Given the description of an element on the screen output the (x, y) to click on. 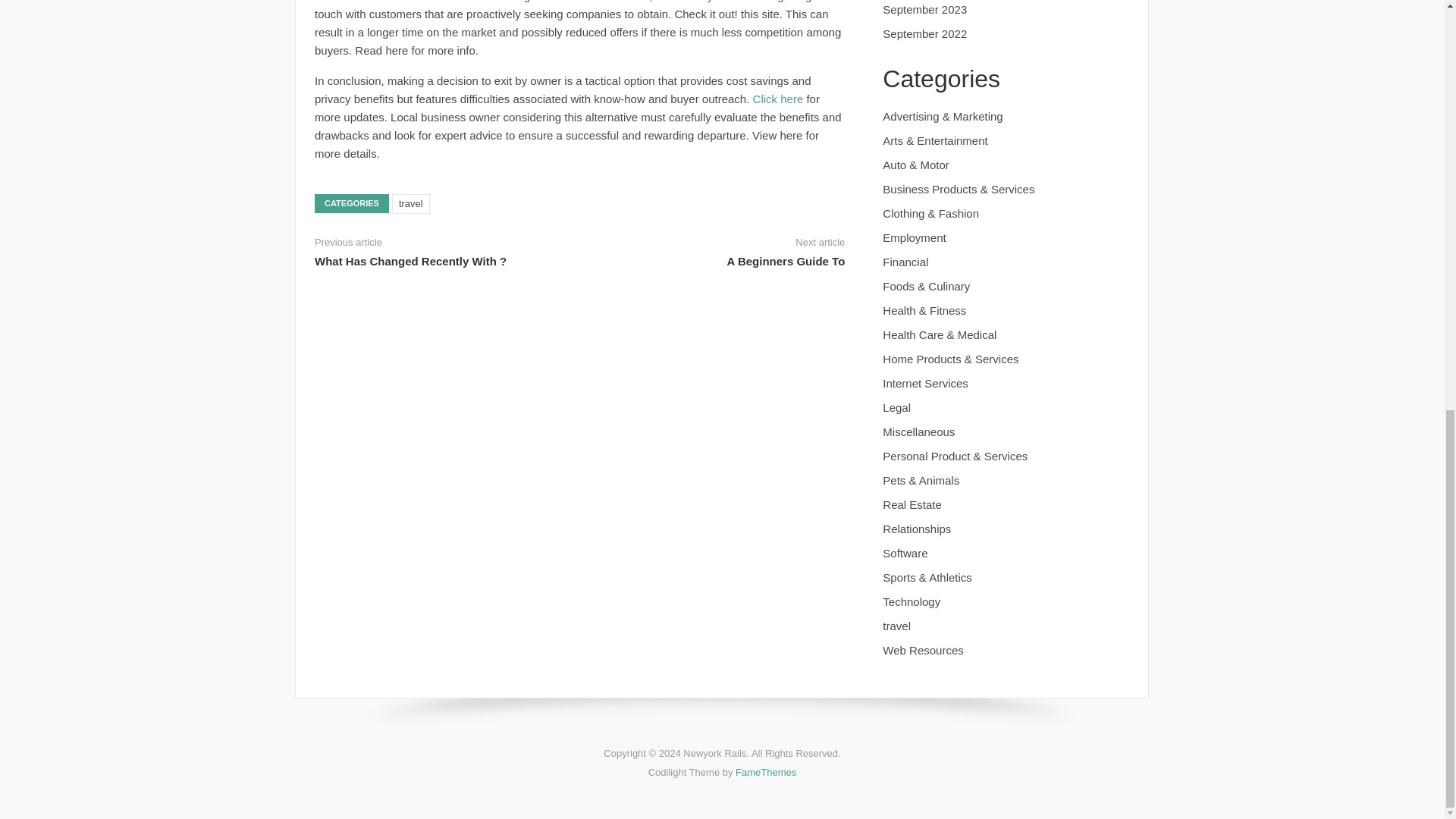
travel (410, 203)
A Beginners Guide To (785, 260)
September 2023 (924, 9)
What Has Changed Recently With ? (410, 260)
Financial (905, 261)
Employment (913, 237)
September 2022 (924, 33)
Click here (777, 98)
